Given the description of an element on the screen output the (x, y) to click on. 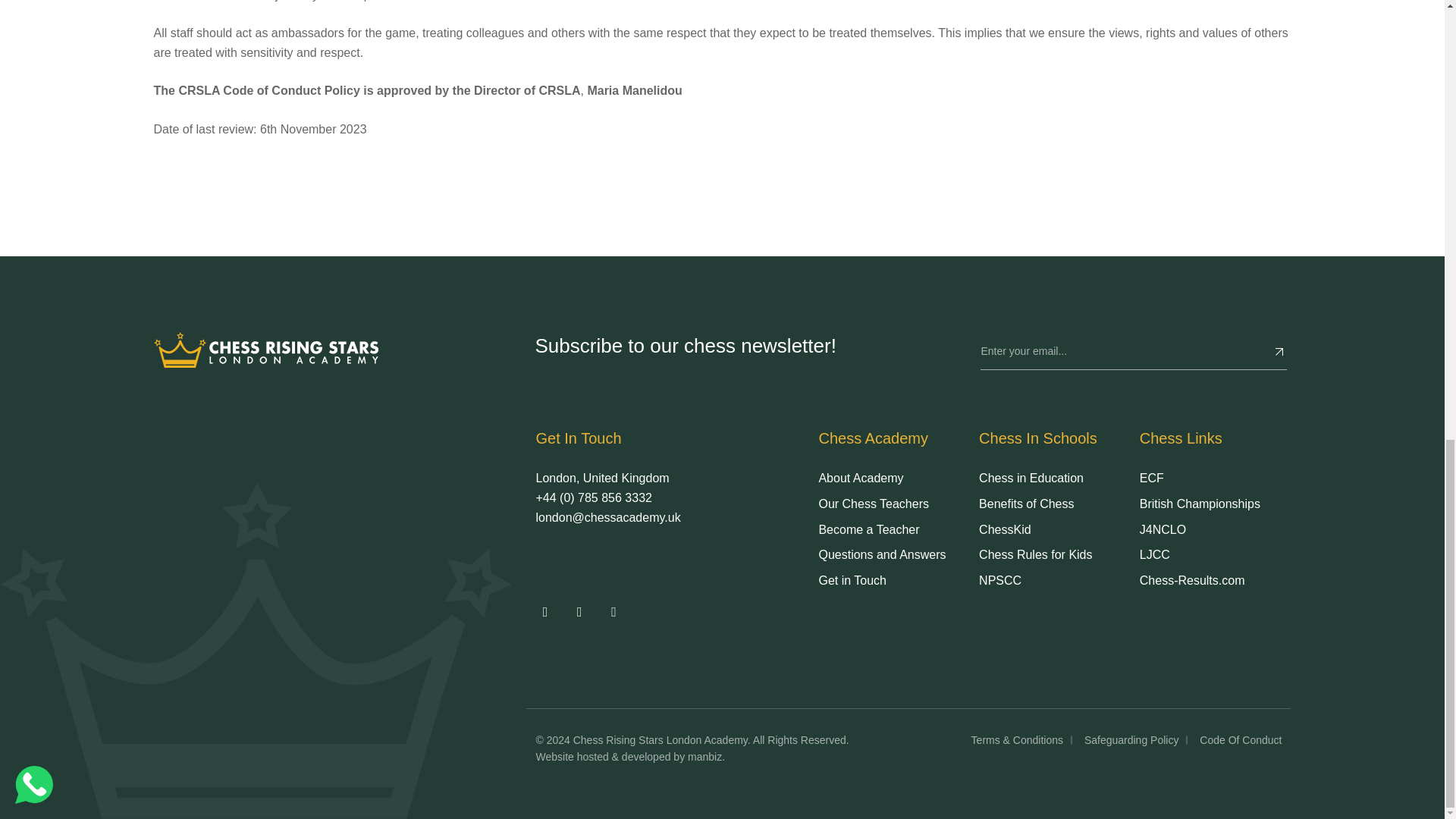
Instagram (579, 612)
Twitter (544, 612)
LinkedIn (613, 612)
Chess Rising Stars (265, 349)
